Given the description of an element on the screen output the (x, y) to click on. 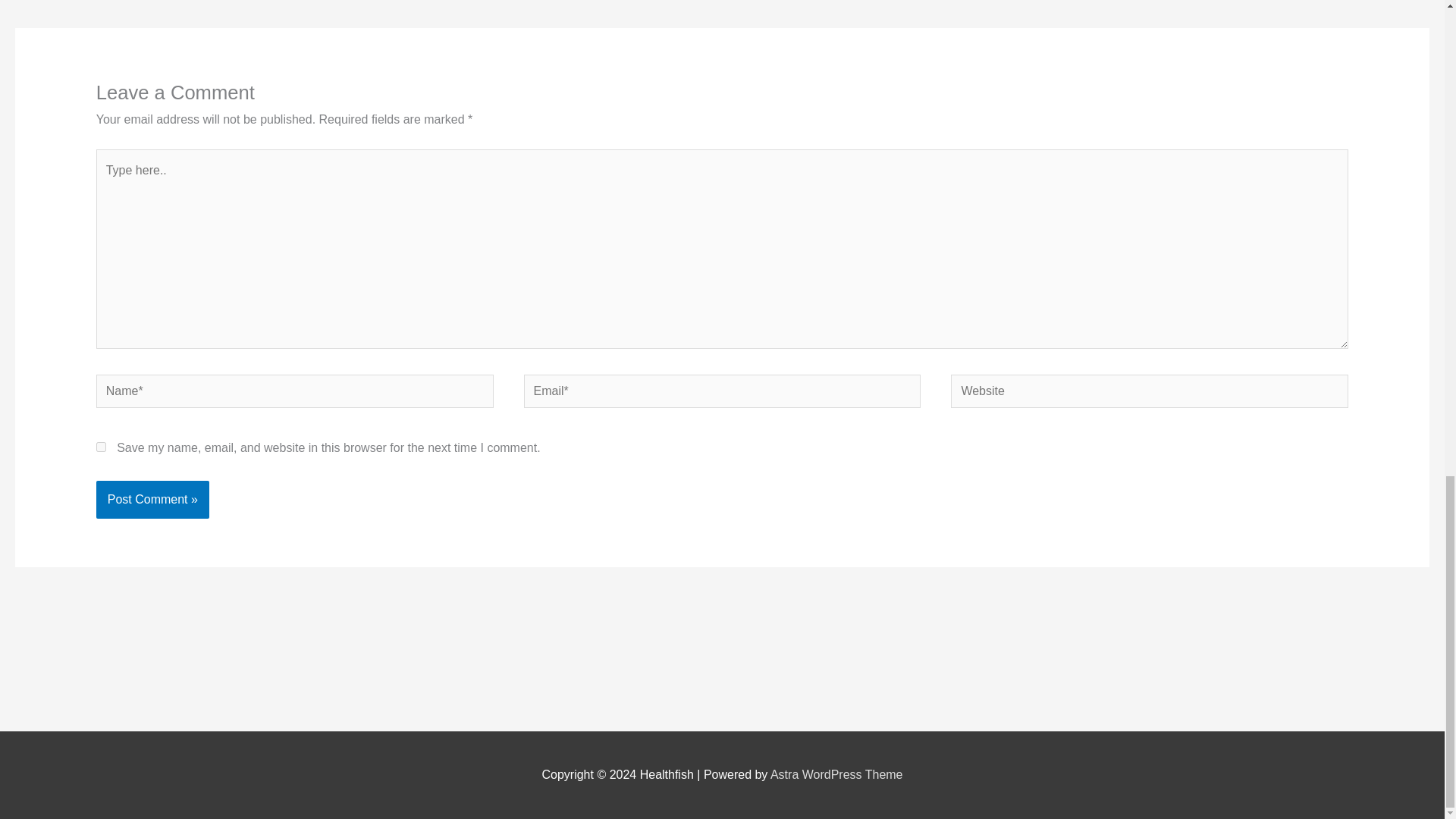
Unique gamingclub casino Casino (61, 0)
yes (101, 447)
Astra WordPress Theme (836, 774)
